Given the description of an element on the screen output the (x, y) to click on. 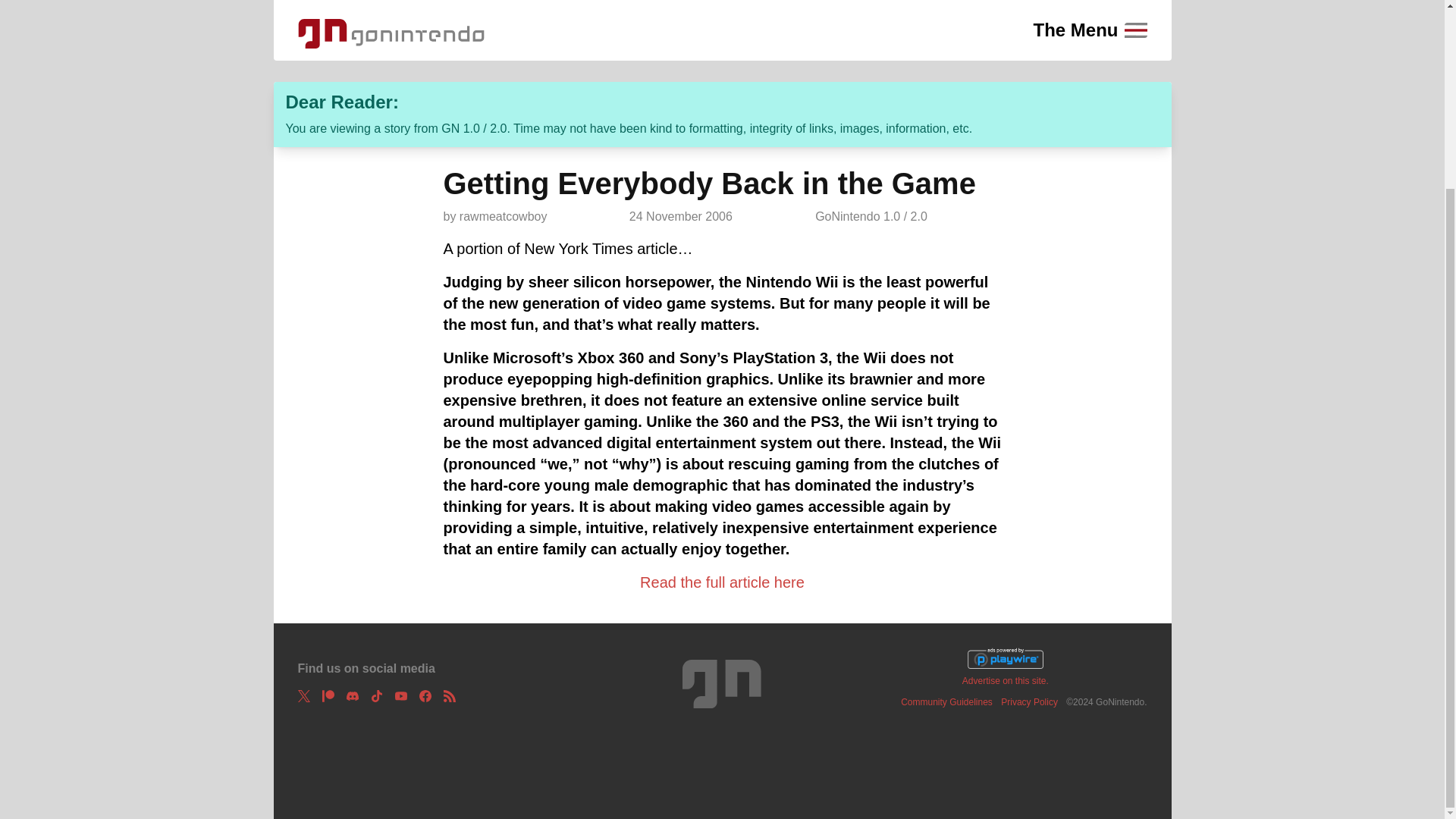
Follow us on TikTok (375, 695)
Discord Invite (352, 695)
Follow us on X (302, 695)
Support GN on Patreon (327, 695)
